Given the description of an element on the screen output the (x, y) to click on. 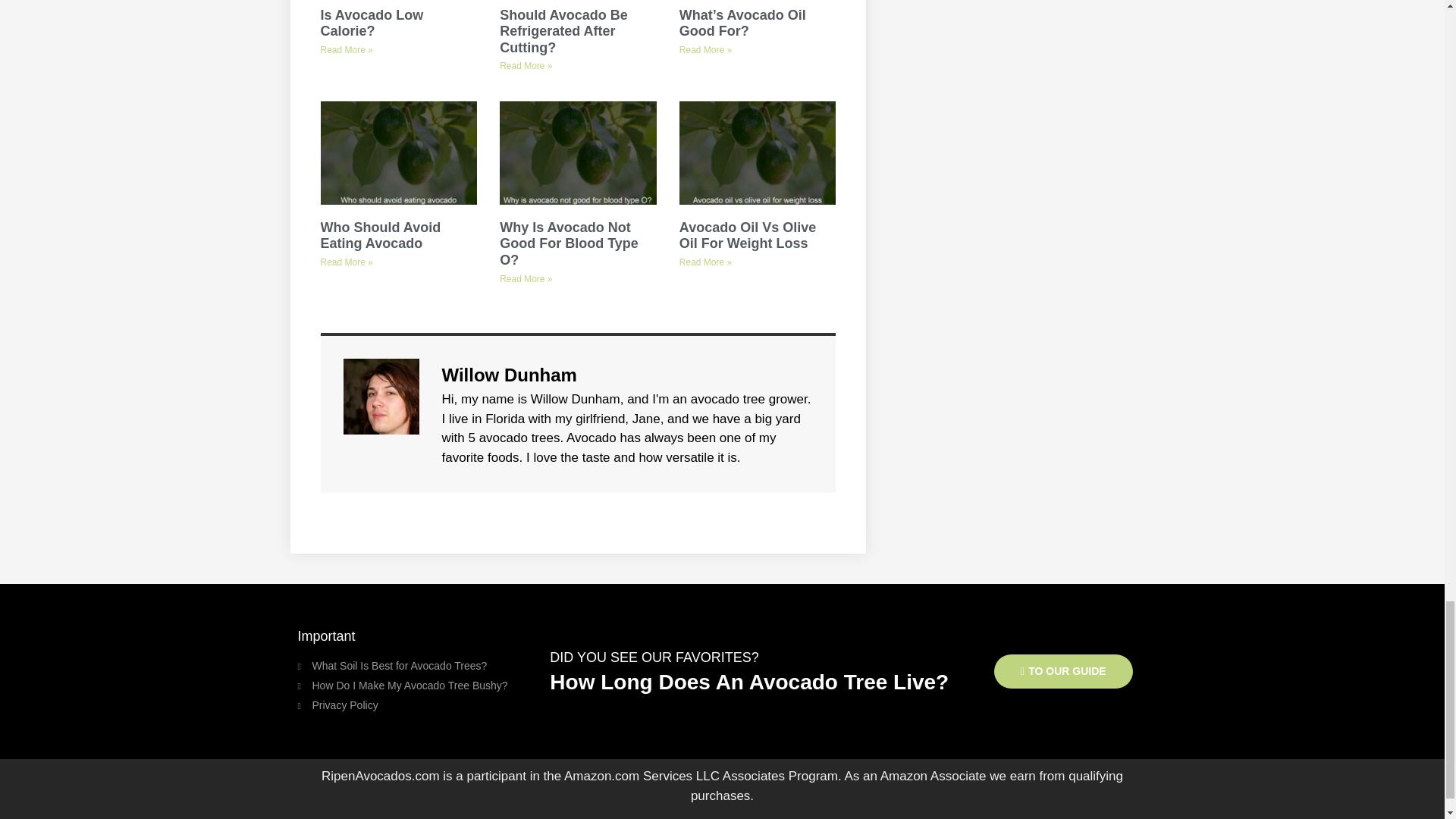
Avocado Oil Vs Olive Oil For Weight Loss (747, 235)
Why Is Avocado Not Good For Blood Type O? (569, 243)
Should Avocado Be Refrigerated After Cutting? (563, 31)
Is Avocado Low Calorie? (371, 23)
Who Should Avoid Eating Avocado (380, 235)
